Given the description of an element on the screen output the (x, y) to click on. 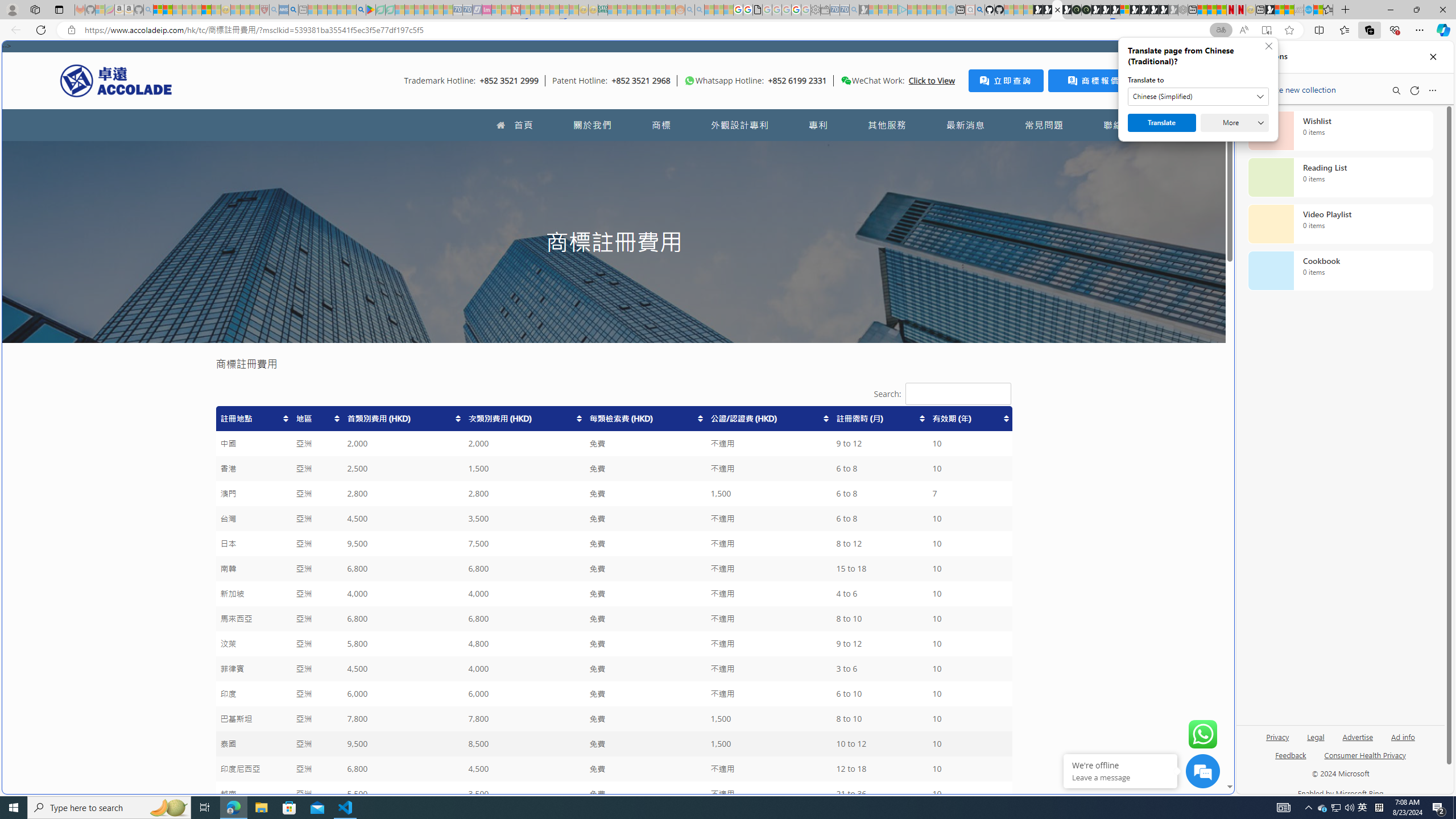
Class: row-14 even (613, 743)
Reading List collection, 0 items (1339, 177)
Cheap Hotels - Save70.com - Sleeping (467, 9)
Class: row-6 even (613, 543)
Class: row-9 odd (613, 619)
